Given the description of an element on the screen output the (x, y) to click on. 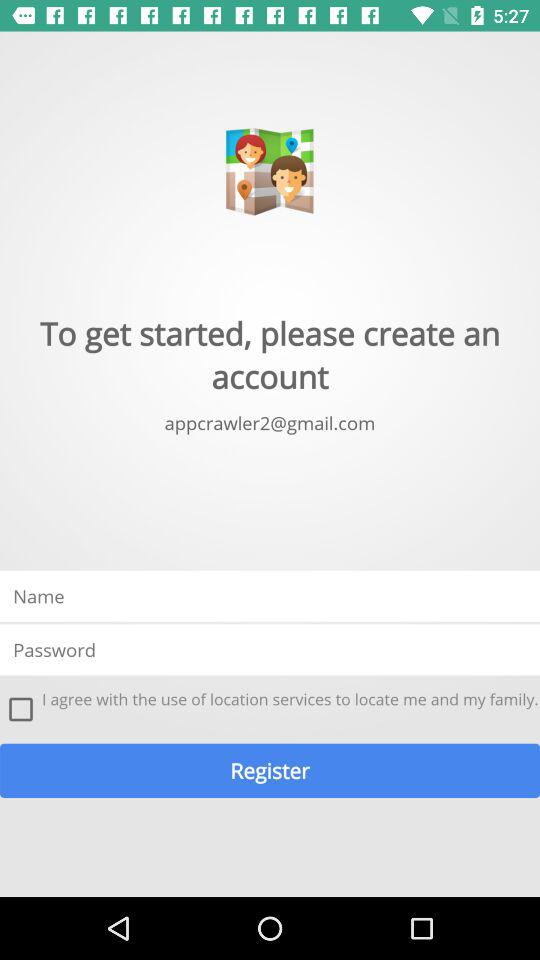
enter a password (270, 649)
